Given the description of an element on the screen output the (x, y) to click on. 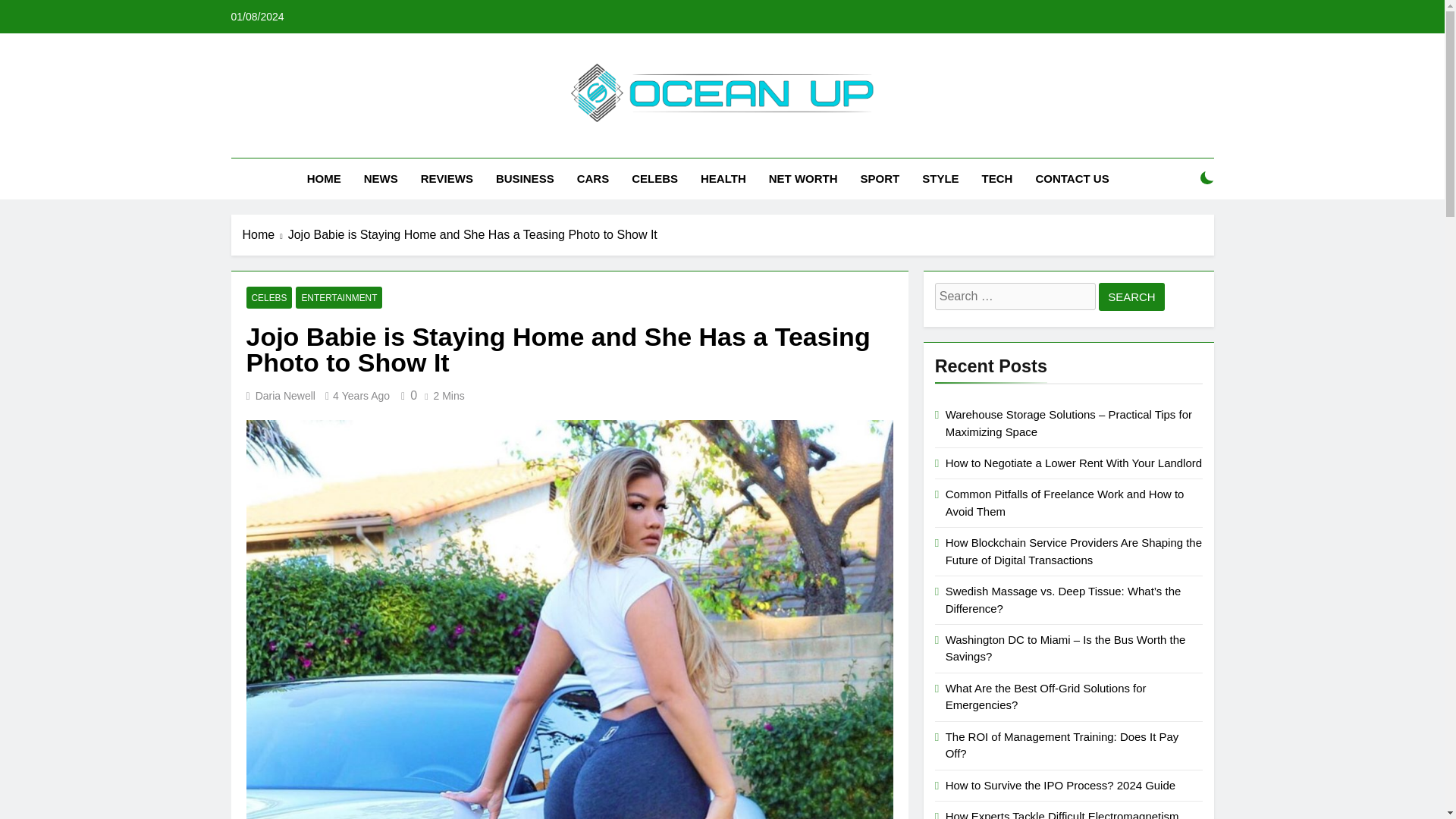
STYLE (940, 178)
Search (1131, 296)
0 (406, 395)
CONTACT US (1071, 178)
CELEBS (269, 297)
ENTERTAINMENT (338, 297)
on (1206, 178)
HOME (323, 178)
REVIEWS (446, 178)
SPORT (879, 178)
